Given the description of an element on the screen output the (x, y) to click on. 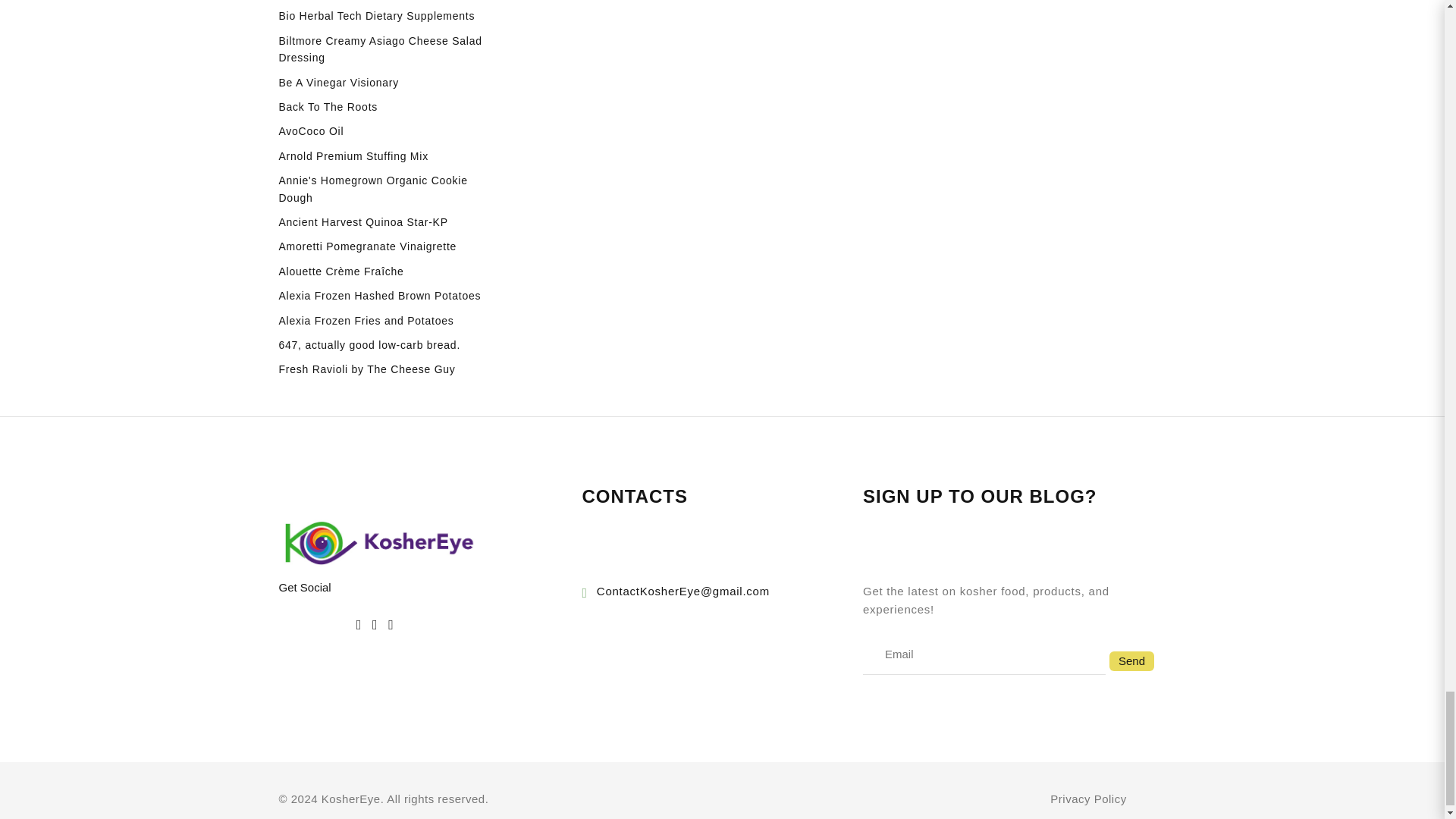
Twitter (374, 624)
Facebook (358, 624)
Pinterest (390, 624)
Send (1131, 660)
